Given the description of an element on the screen output the (x, y) to click on. 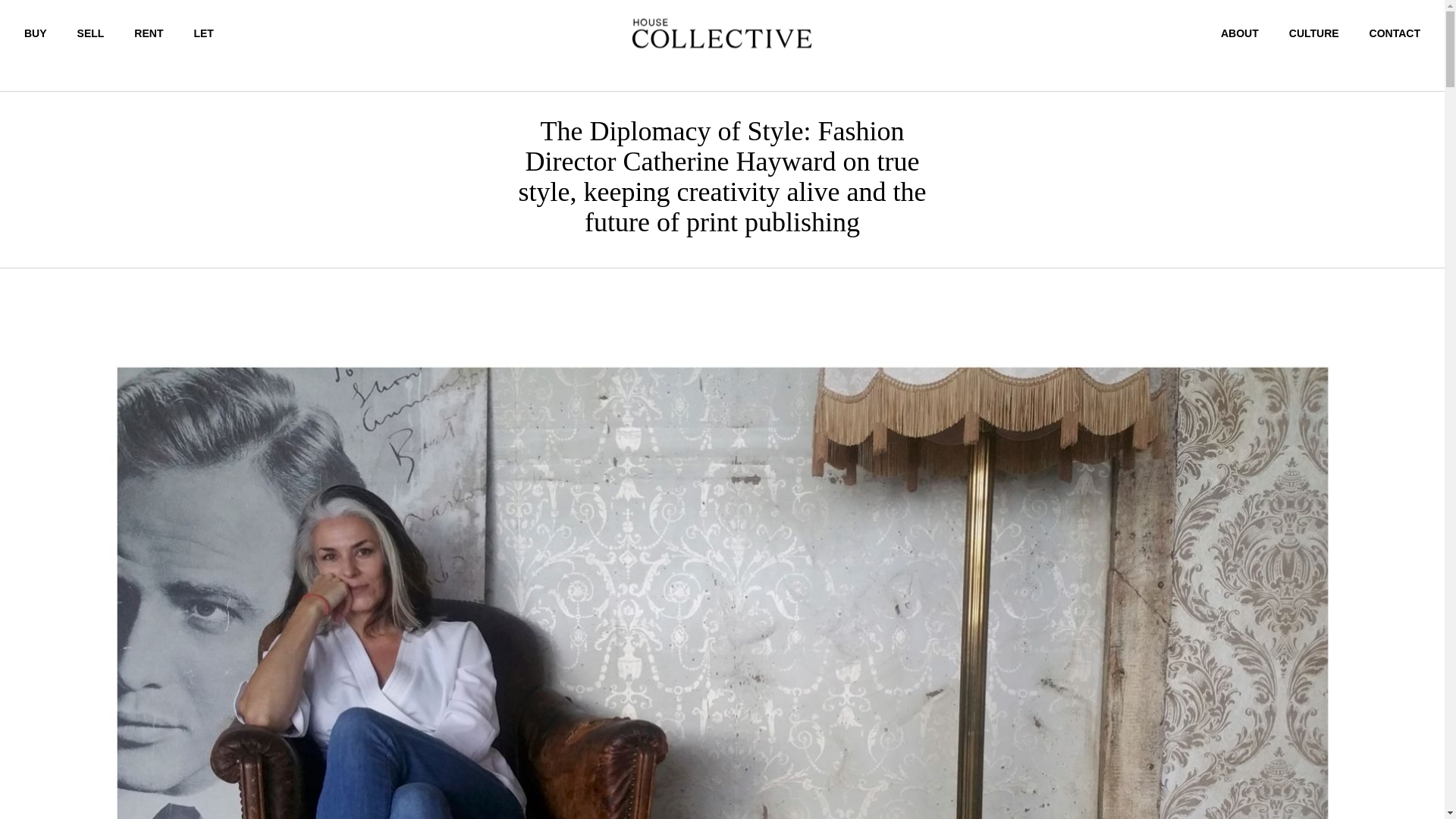
BUY (35, 33)
RENT (148, 33)
CONTACT (1395, 32)
CULTURE (1313, 32)
ABOUT (1240, 32)
SELL (90, 33)
LET (202, 33)
